Given the description of an element on the screen output the (x, y) to click on. 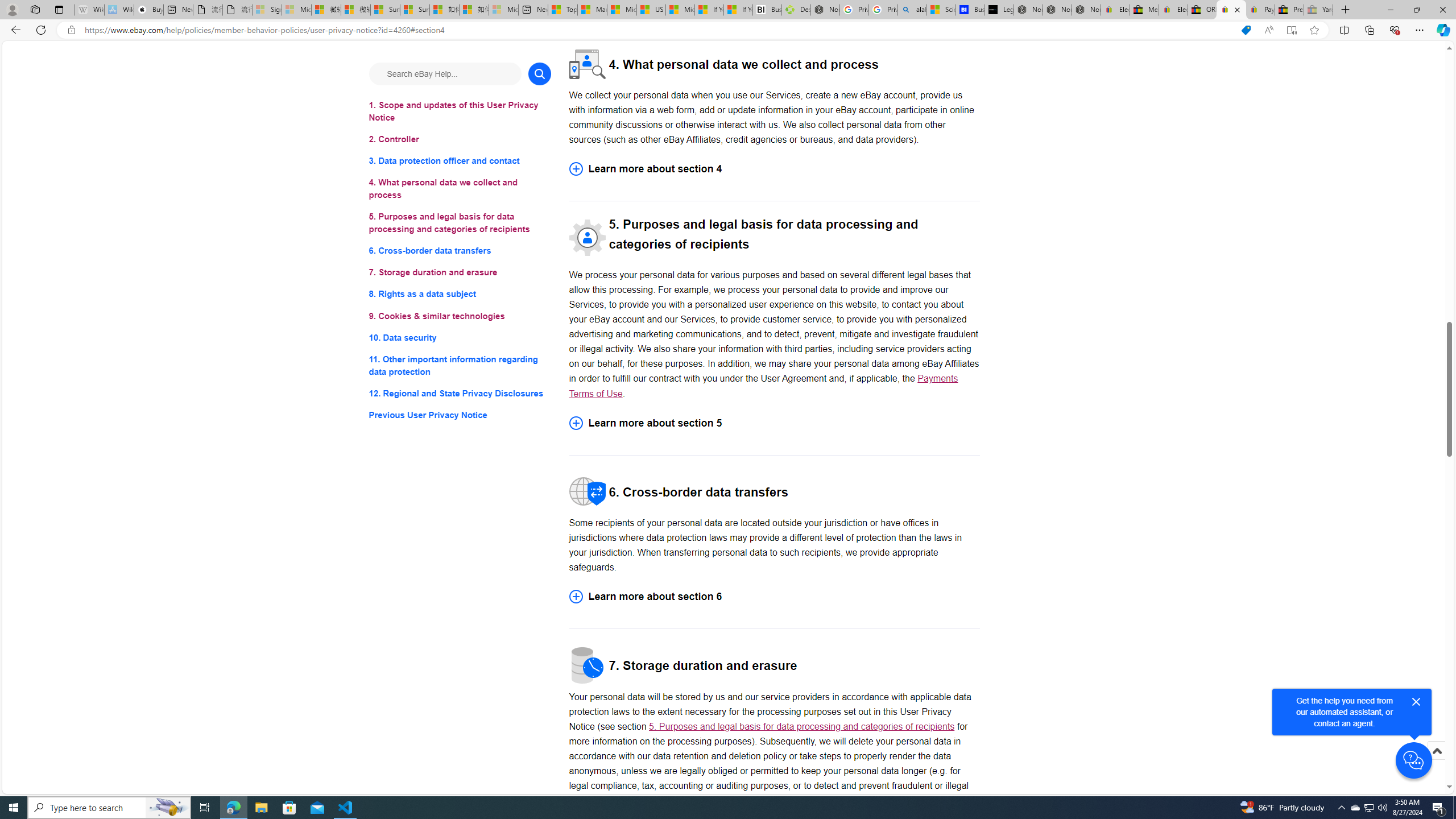
9. Cookies & similar technologies (459, 315)
4. What personal data we collect and process (459, 189)
Previous User Privacy Notice (459, 414)
Scroll to top (1435, 750)
2. Controller (459, 138)
Previous User Privacy Notice (459, 414)
